Given the description of an element on the screen output the (x, y) to click on. 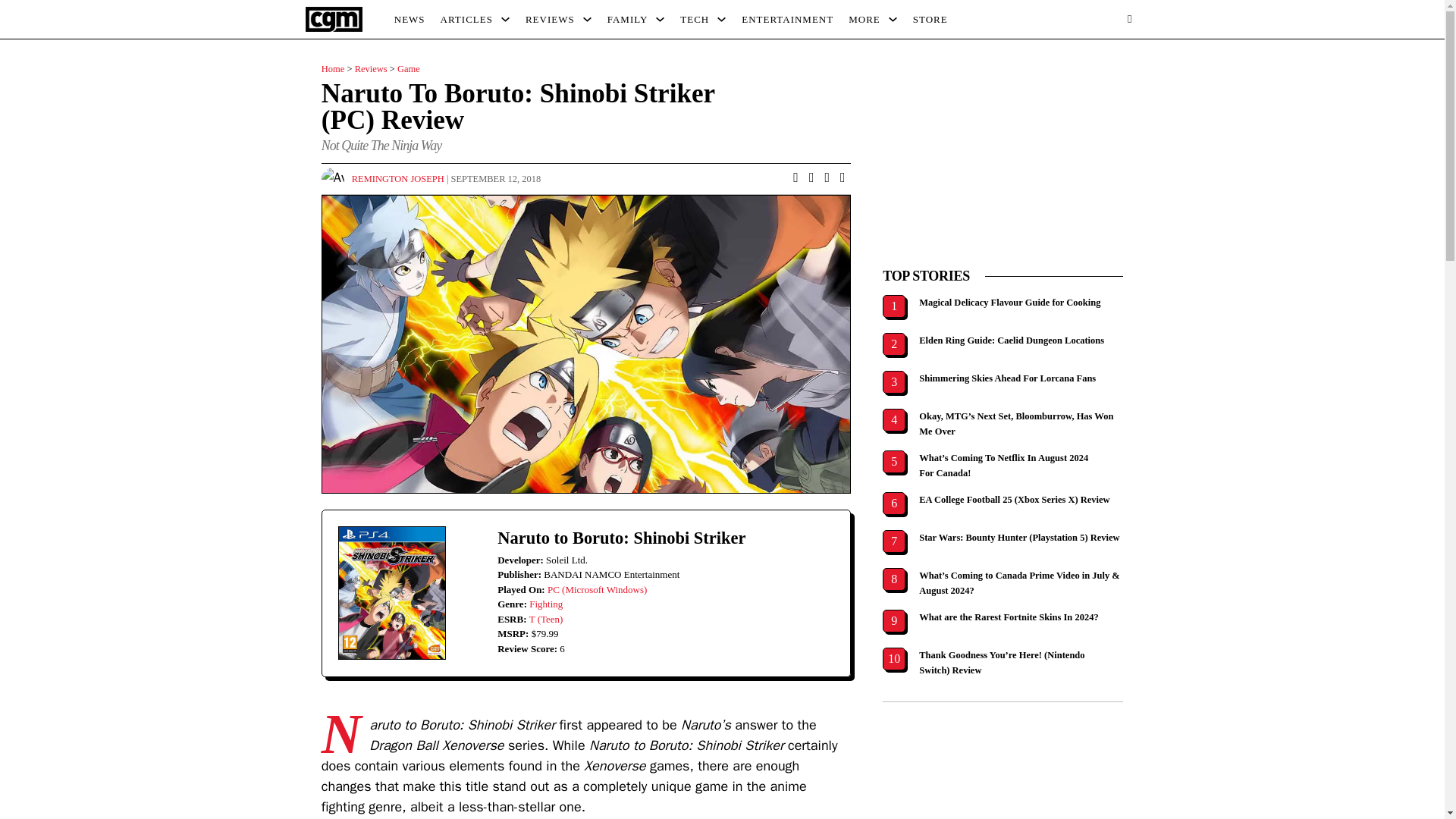
Remington Joseph (398, 178)
